Given the description of an element on the screen output the (x, y) to click on. 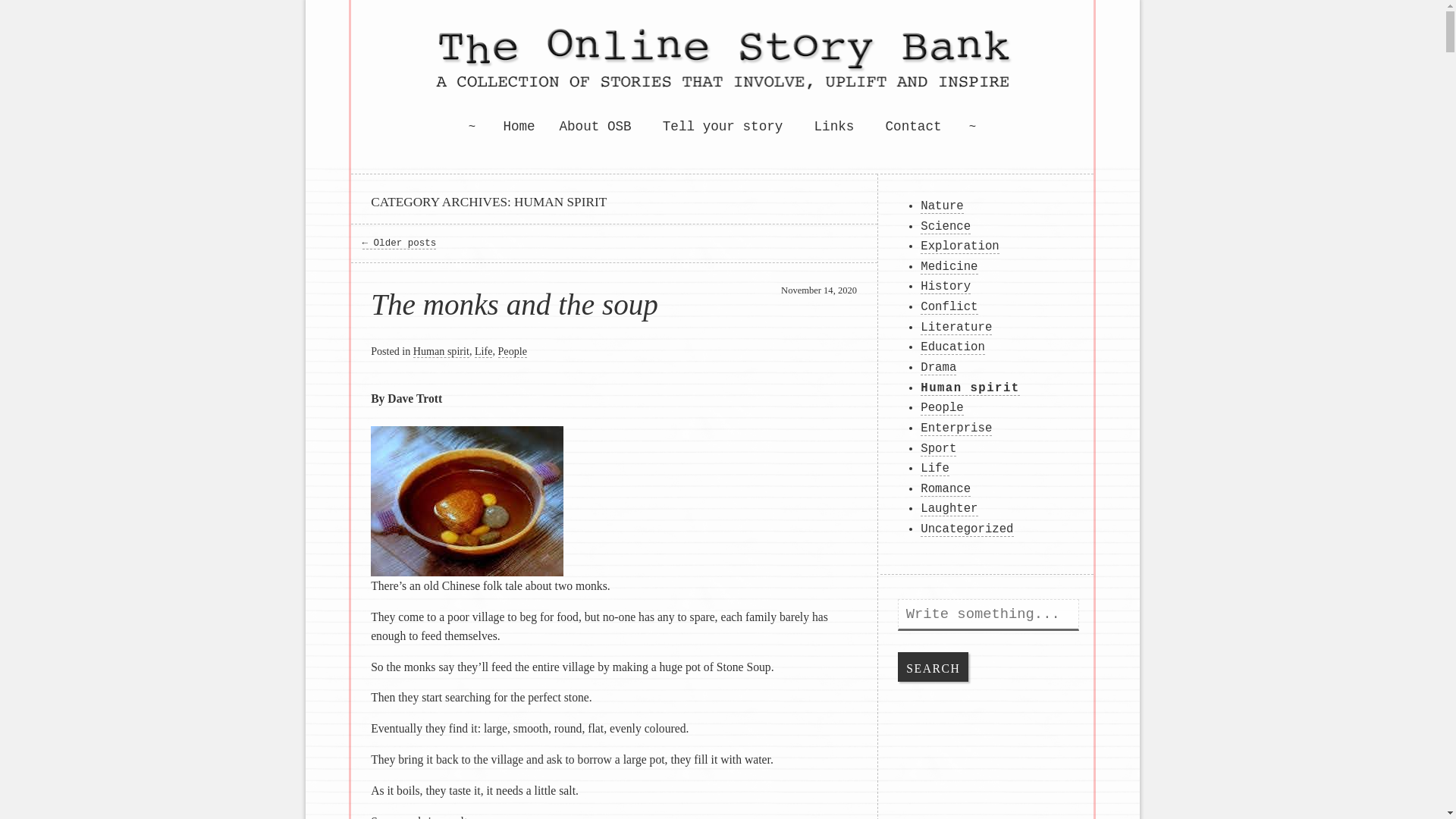
Tell your story (722, 126)
The Online Story Bank (721, 65)
Permalink to The monks and the soup (514, 304)
Links (833, 126)
Search (933, 666)
The monks and the soup (514, 304)
The Online Story Bank (509, 147)
Human spirit (440, 350)
People (512, 350)
The Online Story Bank (509, 147)
Life (483, 350)
Skip to primary content (803, 124)
About OSB (594, 126)
Skip to secondary content (810, 124)
Skip to secondary content (810, 124)
